Given the description of an element on the screen output the (x, y) to click on. 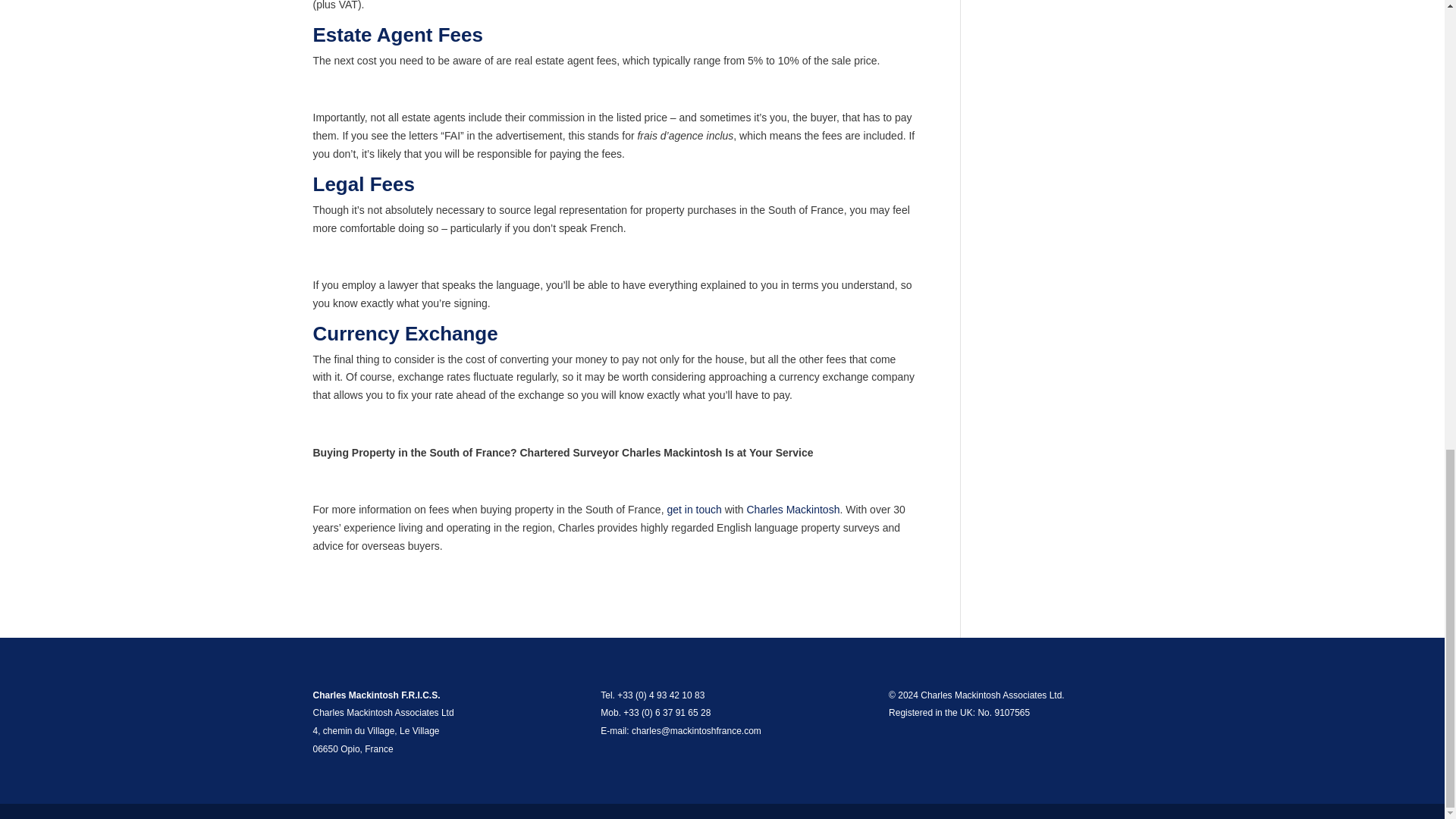
Charles Mackintosh (792, 509)
get in touch (693, 509)
